Given the description of an element on the screen output the (x, y) to click on. 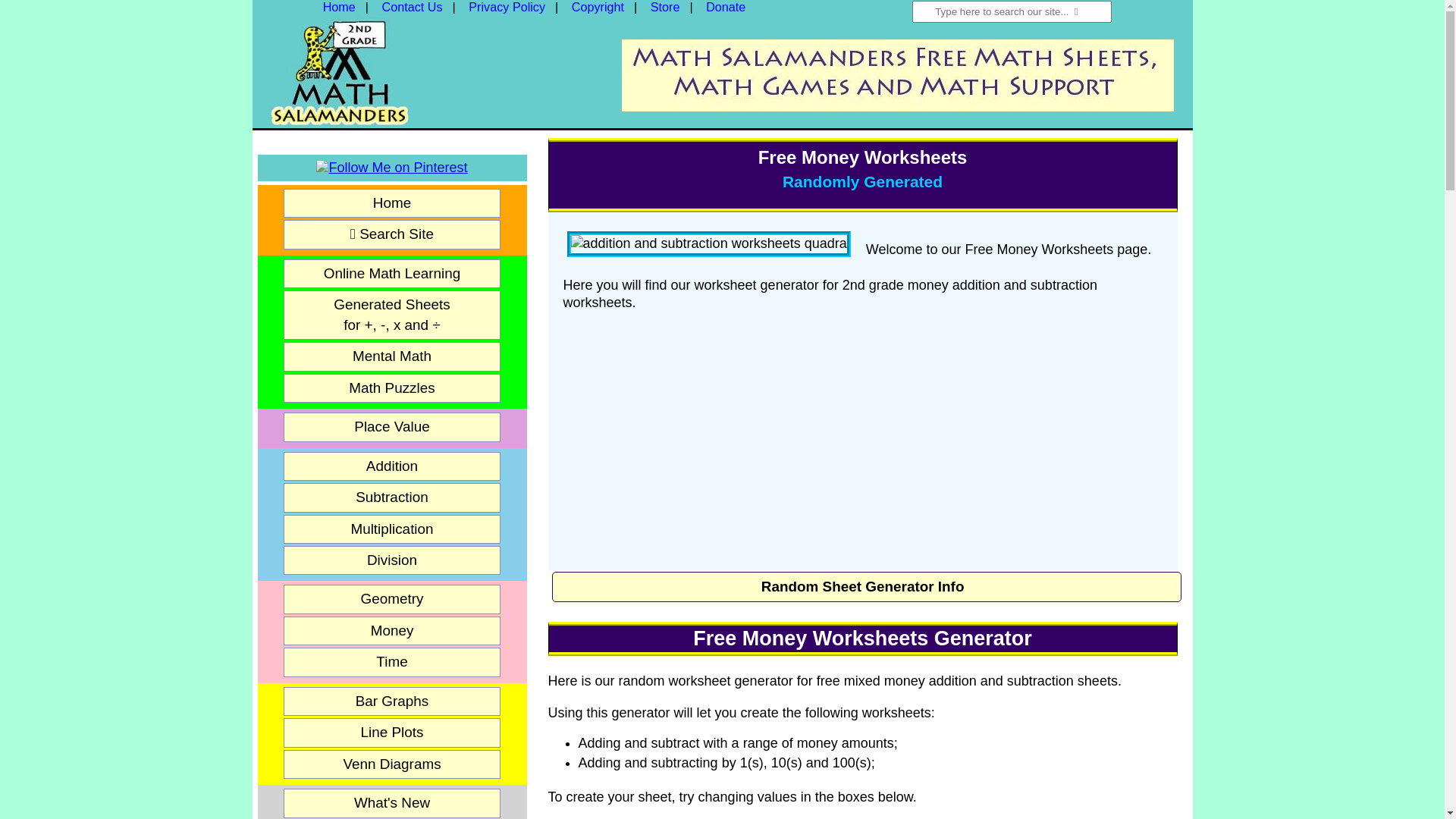
Advertisement Element type: hover (862, 435)
Privacy Policy Element type: text (506, 6)
Contact Us Element type: text (412, 6)
Geometry Element type: text (391, 598)
Place Value Element type: text (391, 426)
Money Element type: text (391, 630)
Donate Element type: text (725, 6)
Bar Graphs Element type: text (391, 701)
Venn Diagrams Element type: text (391, 764)
Store Element type: text (665, 6)
Home Element type: text (339, 6)
Online Math Learning Element type: text (391, 273)
Random Sheet Generator Info Element type: text (866, 586)
Division Element type: text (391, 560)
Advertisement Element type: hover (897, 73)
Home Element type: text (391, 203)
Subtraction Element type: text (391, 497)
Mental Math Element type: text (391, 356)
Time Element type: text (391, 661)
Addition Element type: text (391, 466)
Line Plots Element type: text (391, 732)
Copyright Element type: text (597, 6)
Multiplication Element type: text (391, 529)
addition and subtraction worksheets quadra Element type: hover (708, 243)
What's New Element type: text (391, 802)
Math Puzzles Element type: text (391, 388)
